Given the description of an element on the screen output the (x, y) to click on. 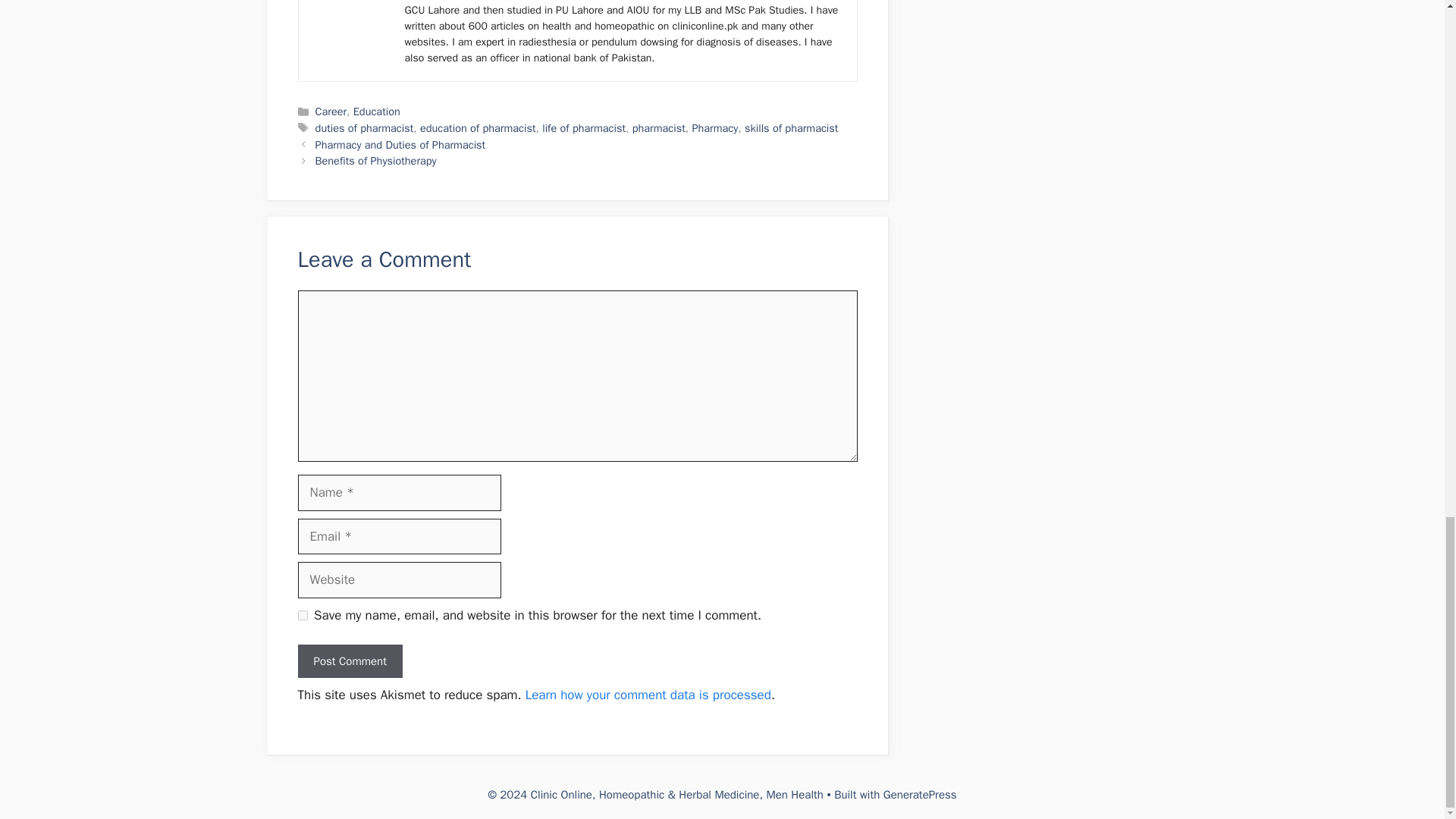
Learn how your comment data is processed (648, 694)
Post Comment (349, 661)
Pharmacy and Duties of Pharmacist (400, 144)
Benefits of Physiotherapy (375, 160)
pharmacist (658, 128)
duties of pharmacist (364, 128)
Education (376, 110)
Post Comment (349, 661)
yes (302, 614)
skills of pharmacist (791, 128)
